Given the description of an element on the screen output the (x, y) to click on. 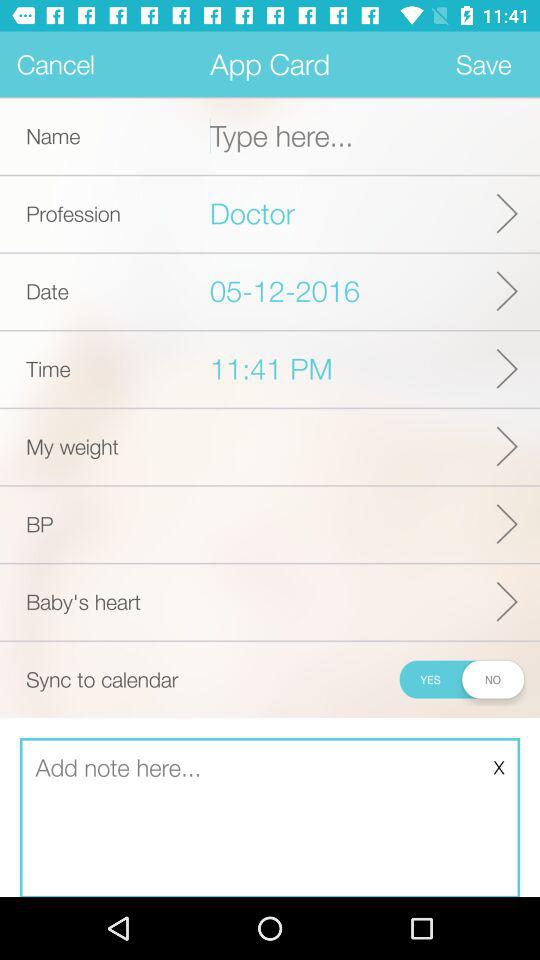
scroll until the save item (483, 63)
